Given the description of an element on the screen output the (x, y) to click on. 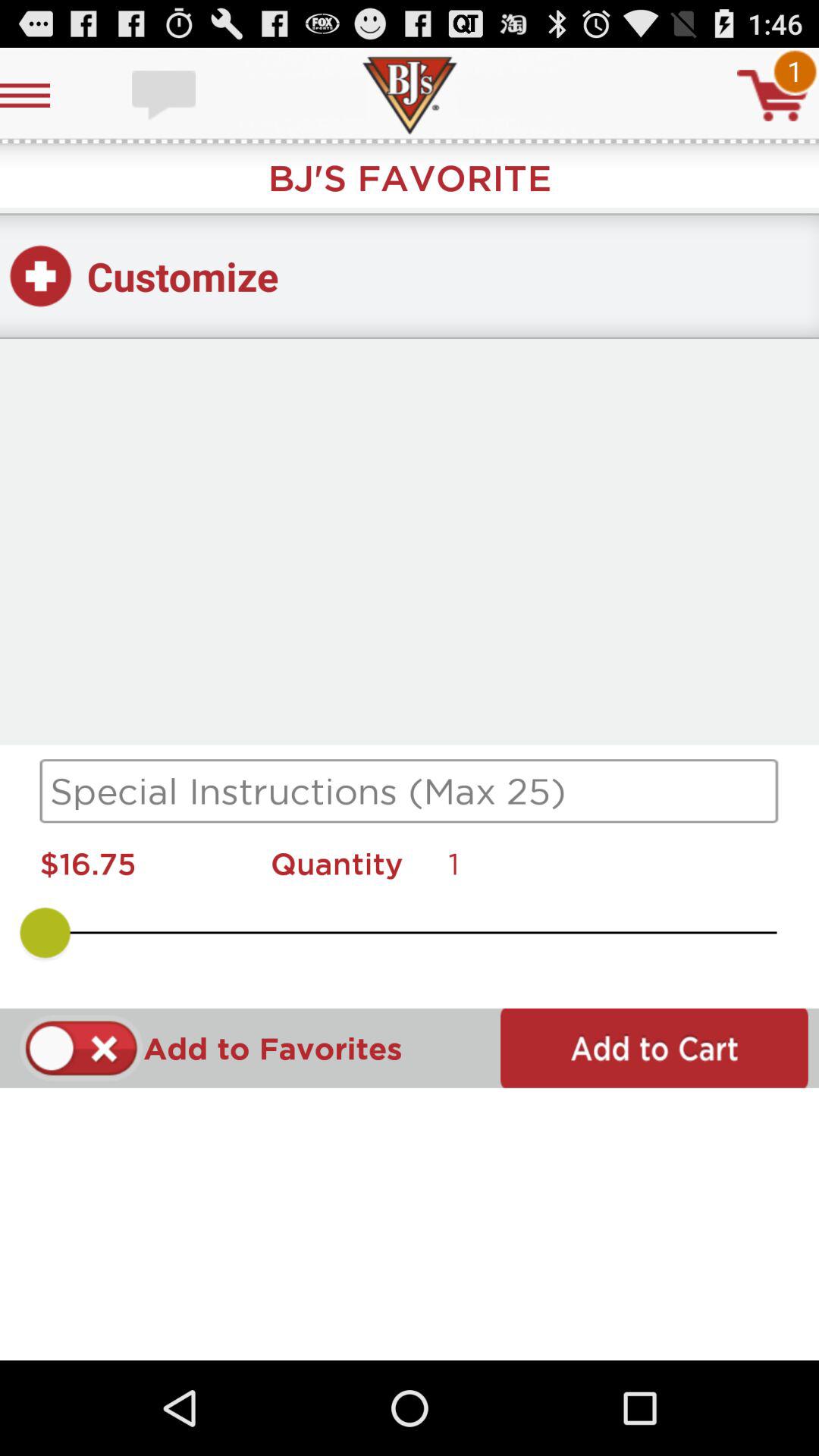
shop button (772, 95)
